Given the description of an element on the screen output the (x, y) to click on. 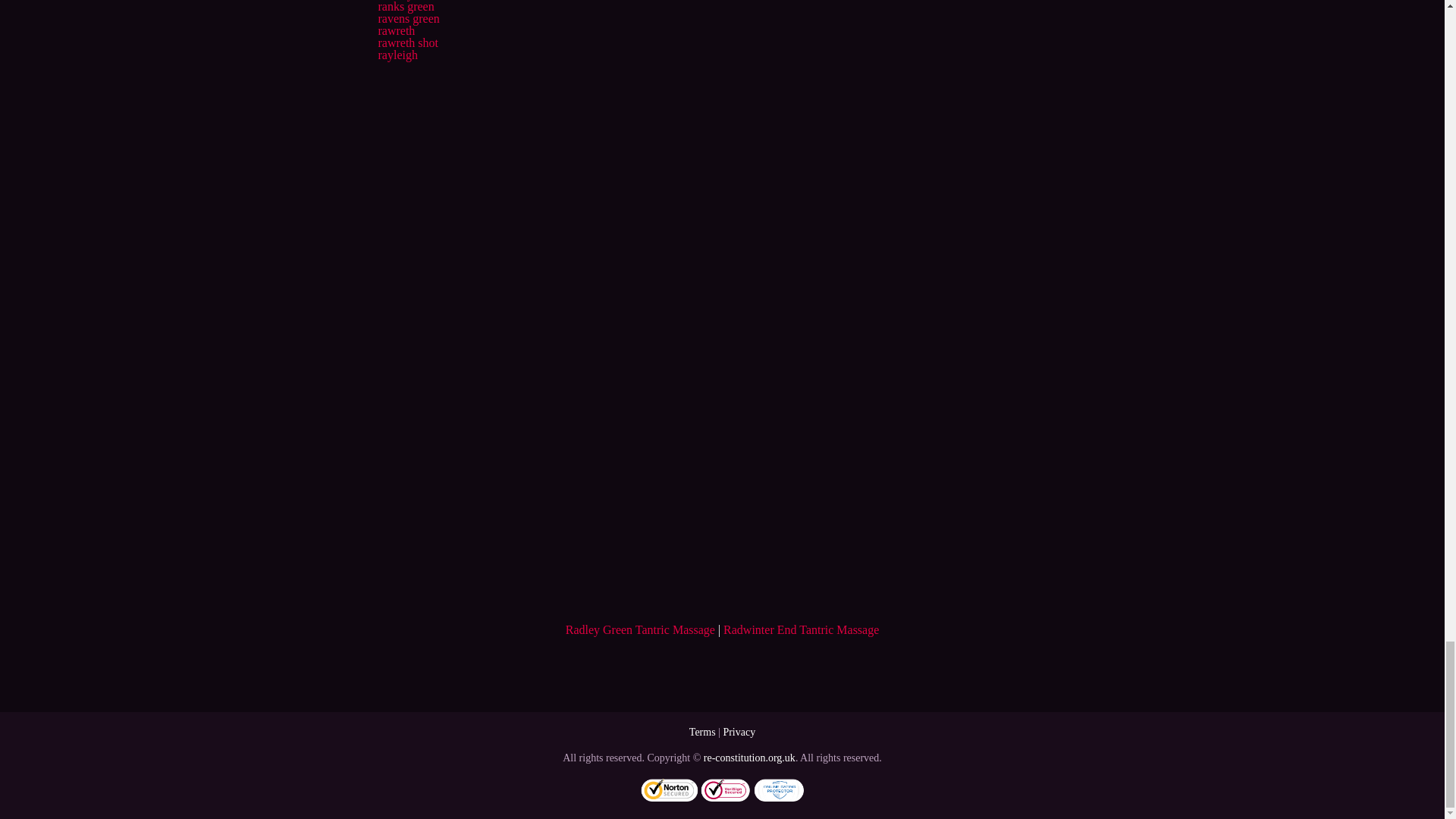
Terms (702, 731)
ravens green (408, 18)
re-constitution.org.uk (748, 757)
rawreth (395, 30)
Privacy (738, 731)
Terms (702, 731)
rawreth shot (407, 42)
Radwinter End Tantric Massage (801, 629)
Radley Green Tantric Massage (640, 629)
rayleigh (396, 54)
Privacy (738, 731)
ranks green (405, 6)
ramsey island (410, 0)
